Given the description of an element on the screen output the (x, y) to click on. 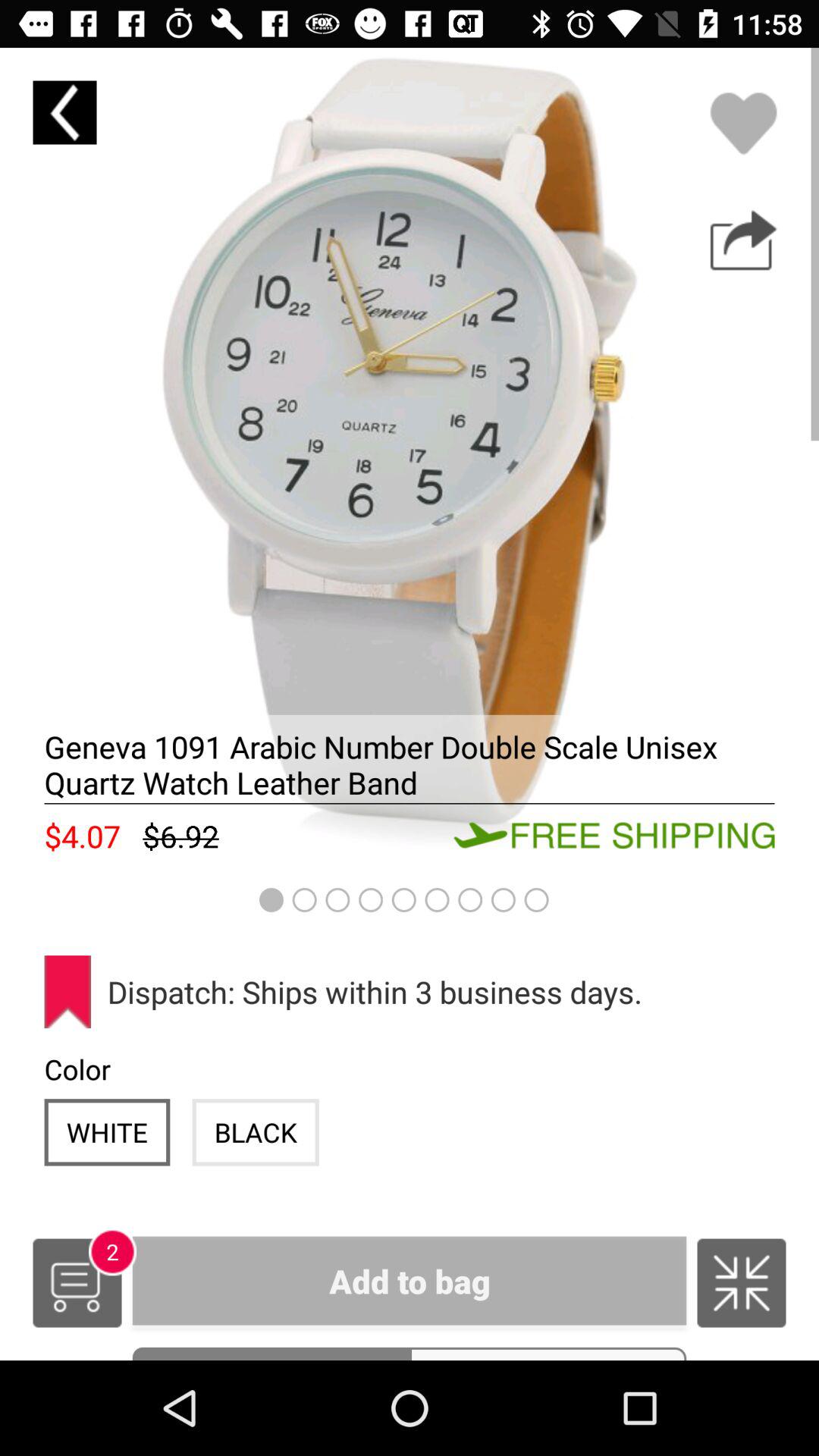
scroll to black (255, 1131)
